Given the description of an element on the screen output the (x, y) to click on. 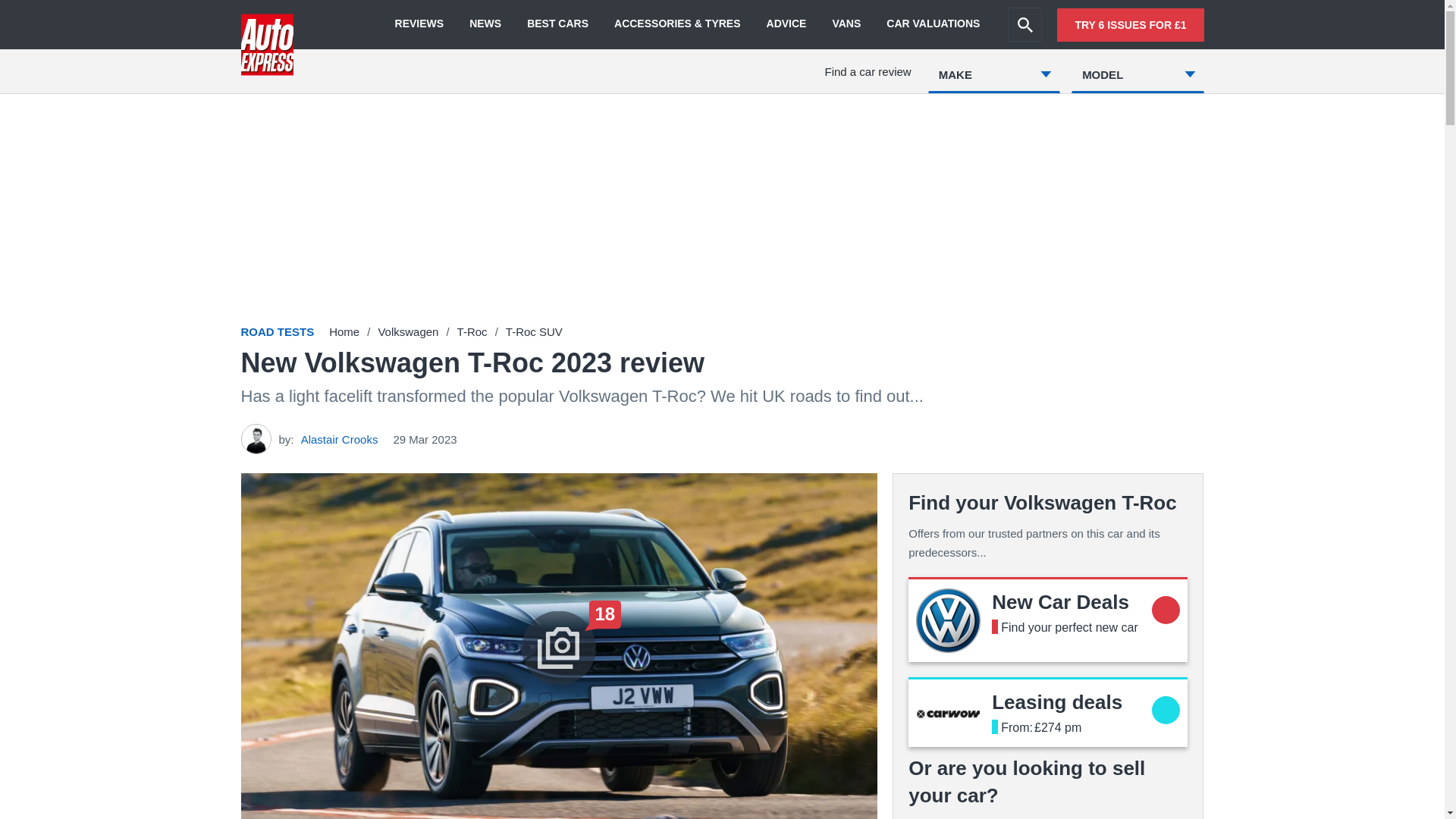
REVIEWS (419, 24)
Search (1024, 24)
NEWS (485, 24)
Search (1024, 24)
VANS (845, 24)
CAR VALUATIONS (932, 24)
ADVICE (786, 24)
BEST CARS (557, 24)
